Given the description of an element on the screen output the (x, y) to click on. 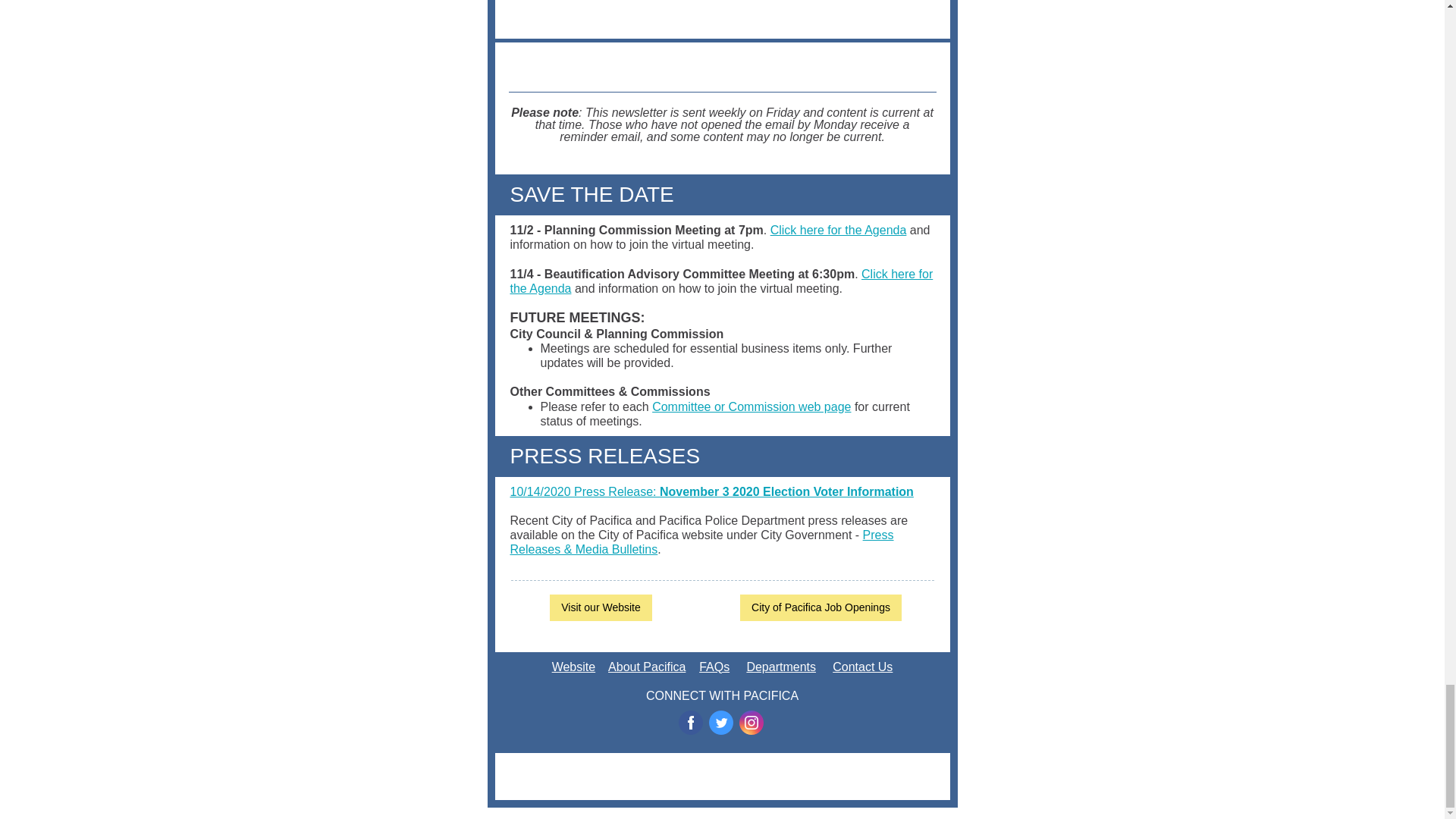
Visit our Website (600, 607)
FAQs (713, 666)
Click here for the Agenda (838, 229)
Committee or Commission web page (751, 406)
Website (573, 666)
City of Pacifica Job Openings (820, 607)
November 3 2020 Election Voter Information (786, 491)
Departments (780, 666)
About Pacifica (646, 666)
Click here for the Agenda (721, 280)
